Given the description of an element on the screen output the (x, y) to click on. 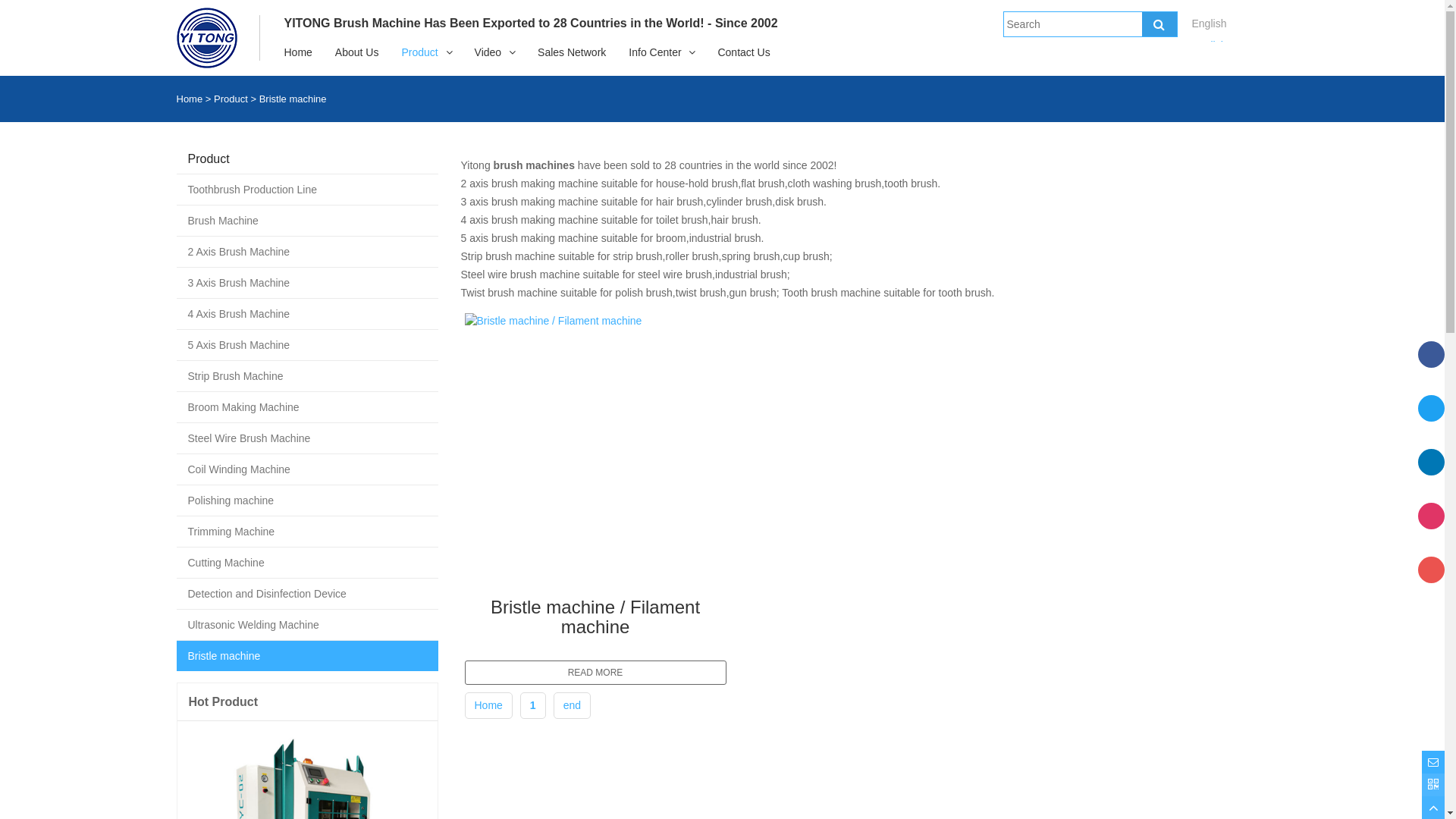
end Element type: text (571, 705)
Trimming Machine Element type: text (306, 531)
Coil Winding Machine Element type: text (306, 469)
English Element type: text (1209, 45)
Polishing machine Element type: text (306, 500)
youtube Element type: text (1431, 582)
Contact Us Element type: text (743, 52)
About Us Element type: text (356, 52)
Detection and Disinfection Device Element type: text (306, 593)
1 Element type: text (533, 705)
Broom Making Machine Element type: text (306, 407)
Ultrasonic Welding Machine Element type: text (306, 624)
Toothbrush Production Line Element type: text (306, 189)
5 Axis Brush Machine Element type: text (306, 344)
2 Axis Brush Machine Element type: text (306, 251)
Home Element type: text (188, 98)
twitter Element type: text (1431, 421)
Info Center Element type: text (654, 52)
linkedin Element type: text (1431, 475)
Product Element type: text (418, 52)
Cutting Machine Element type: text (306, 562)
Bristle machine Element type: text (306, 655)
facebook Element type: text (1431, 367)
Sales Network Element type: text (571, 52)
Steel Wire Brush Machine Element type: text (306, 438)
Bristle machine Element type: text (292, 98)
Brush Machine Element type: text (306, 220)
Home Element type: text (298, 52)
Video Element type: text (488, 52)
4 Axis Brush Machine Element type: text (306, 313)
Strip Brush Machine Element type: text (306, 375)
3 Axis Brush Machine Element type: text (306, 282)
Home Element type: text (488, 705)
Bristle machine / Filament machine Element type: text (594, 613)
Product Element type: text (230, 98)
instagram Element type: text (1431, 528)
READ MORE Element type: text (594, 672)
